Given the description of an element on the screen output the (x, y) to click on. 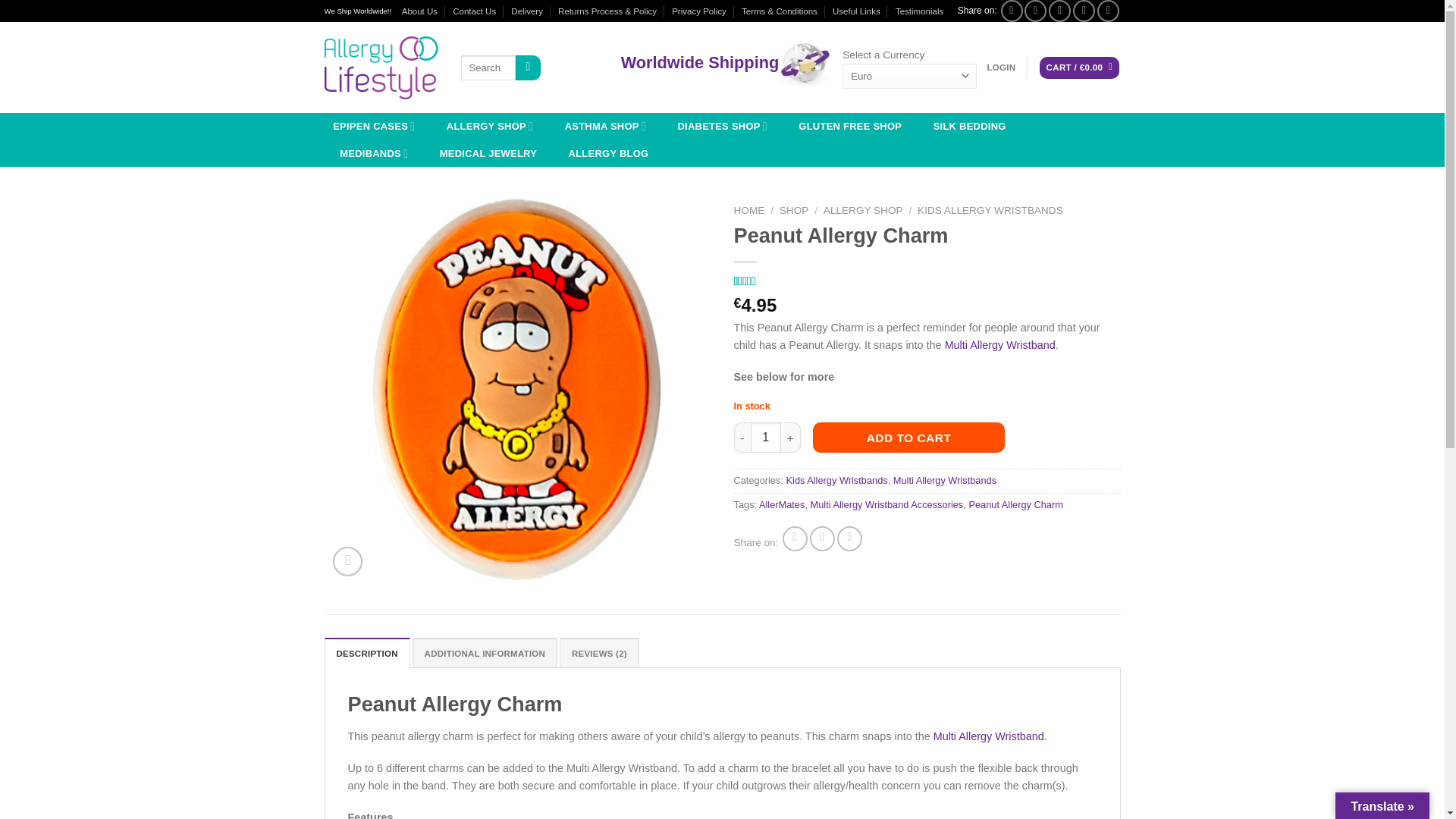
Allergy Lifestyle - Allergies, Anaphylaxis and Asthma Shop (381, 67)
Zoom (347, 561)
Search (527, 68)
Follow on Facebook (1012, 11)
ALLERGY SHOP (489, 126)
Testimonials (919, 11)
Follow on Instagram (1035, 11)
Share on Facebook (795, 538)
About Us (419, 11)
Share on Twitter (821, 538)
